Given the description of an element on the screen output the (x, y) to click on. 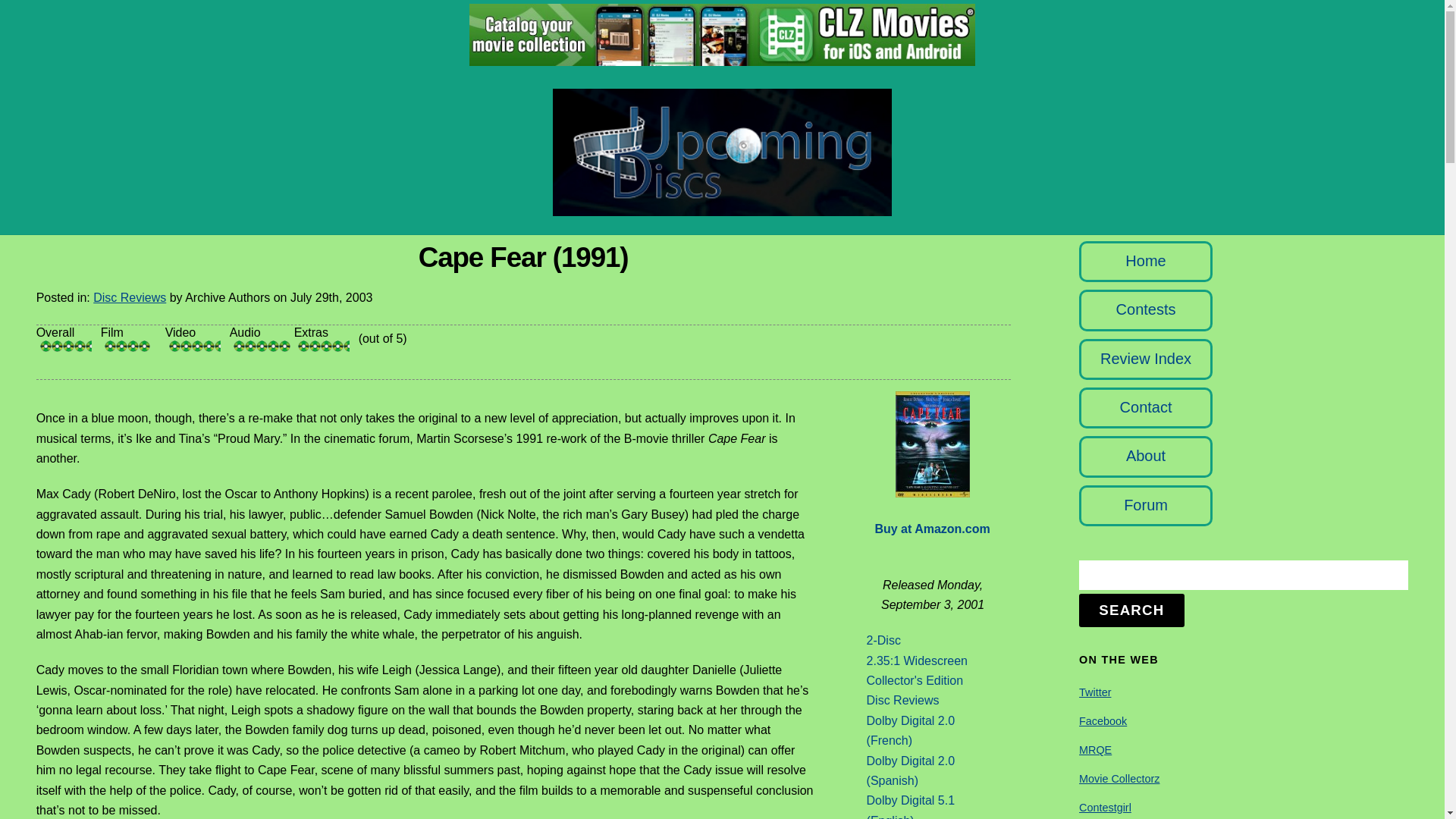
Disc Reviews (902, 699)
Search (1242, 574)
2.35:1 Widescreen (917, 660)
UpcomingDiscs.com (722, 208)
2-Disc (883, 640)
Disc Reviews (129, 297)
Buy at Amazon.com (932, 528)
Collector's Edition (914, 680)
